Given the description of an element on the screen output the (x, y) to click on. 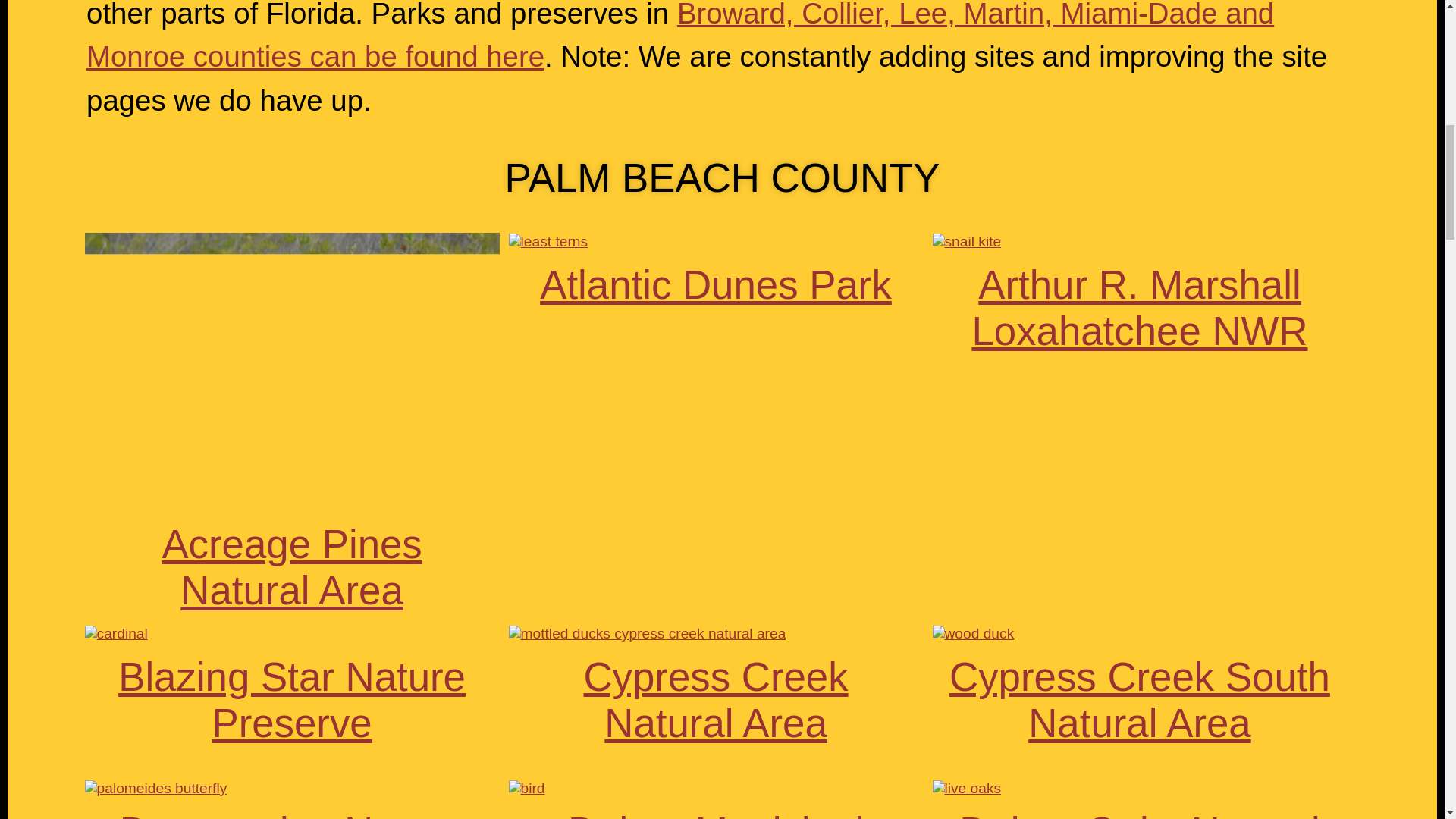
Delray Oaks Natural Area (1139, 814)
Cypress Creek Natural Area (715, 699)
Daggerwing Nature Center (291, 814)
Atlantic Dunes Park (715, 284)
Delray Municipal Beach (715, 814)
Cypress Creek South Natural Area (1139, 699)
Arthur R. Marshall Loxahatchee NWR (1139, 307)
Blazing Star Nature Preserve (291, 699)
Acreage Pines Natural Area (291, 566)
